Given the description of an element on the screen output the (x, y) to click on. 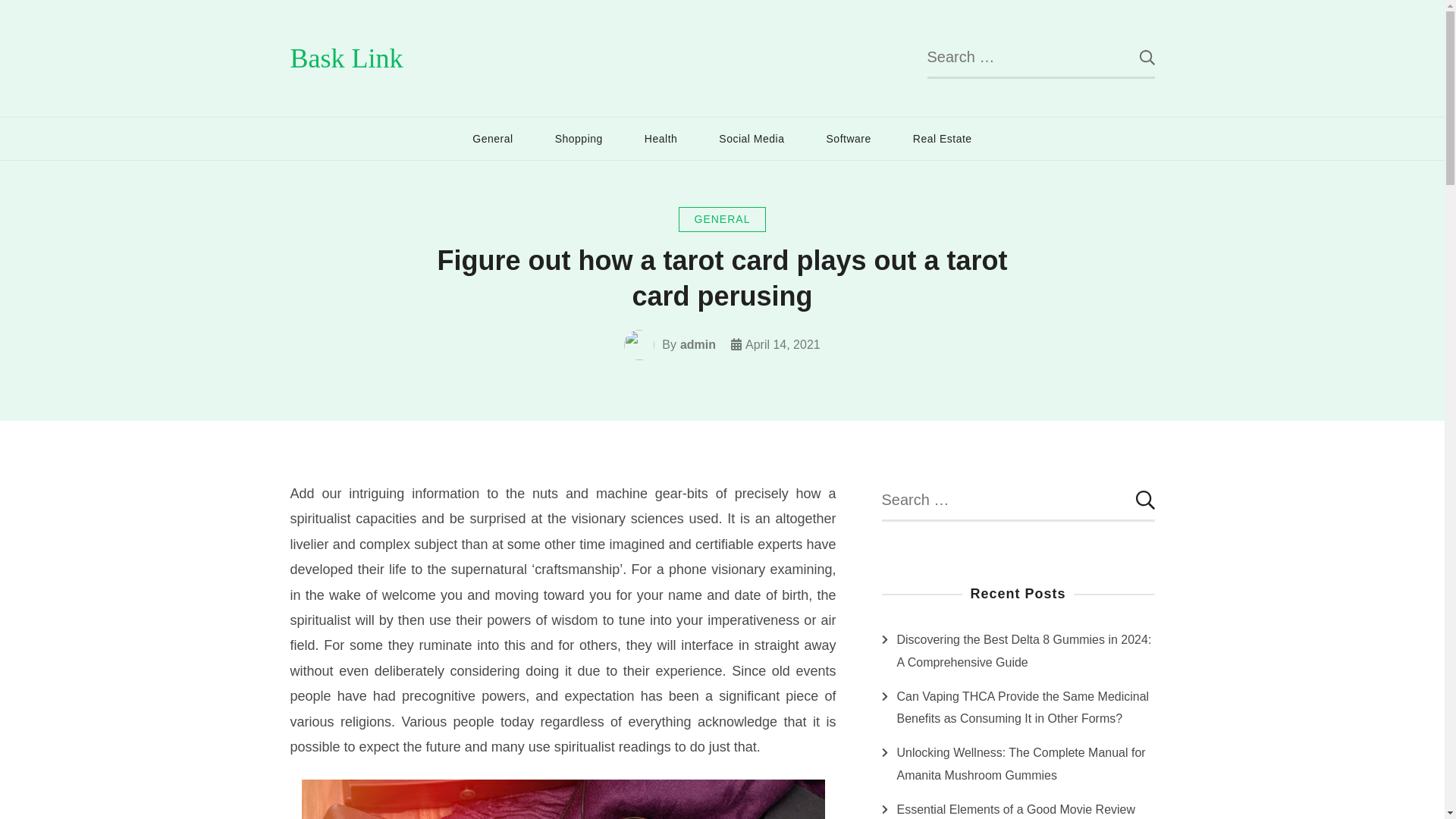
Search (1135, 500)
Search (1135, 56)
admin (697, 344)
April 14, 2021 (783, 344)
Search (1135, 500)
Bask Link (346, 58)
Social Media (751, 138)
Real Estate (942, 138)
General (491, 138)
Software (848, 138)
Search (1135, 56)
Health (660, 138)
Search (1135, 56)
Shopping (578, 138)
